Given the description of an element on the screen output the (x, y) to click on. 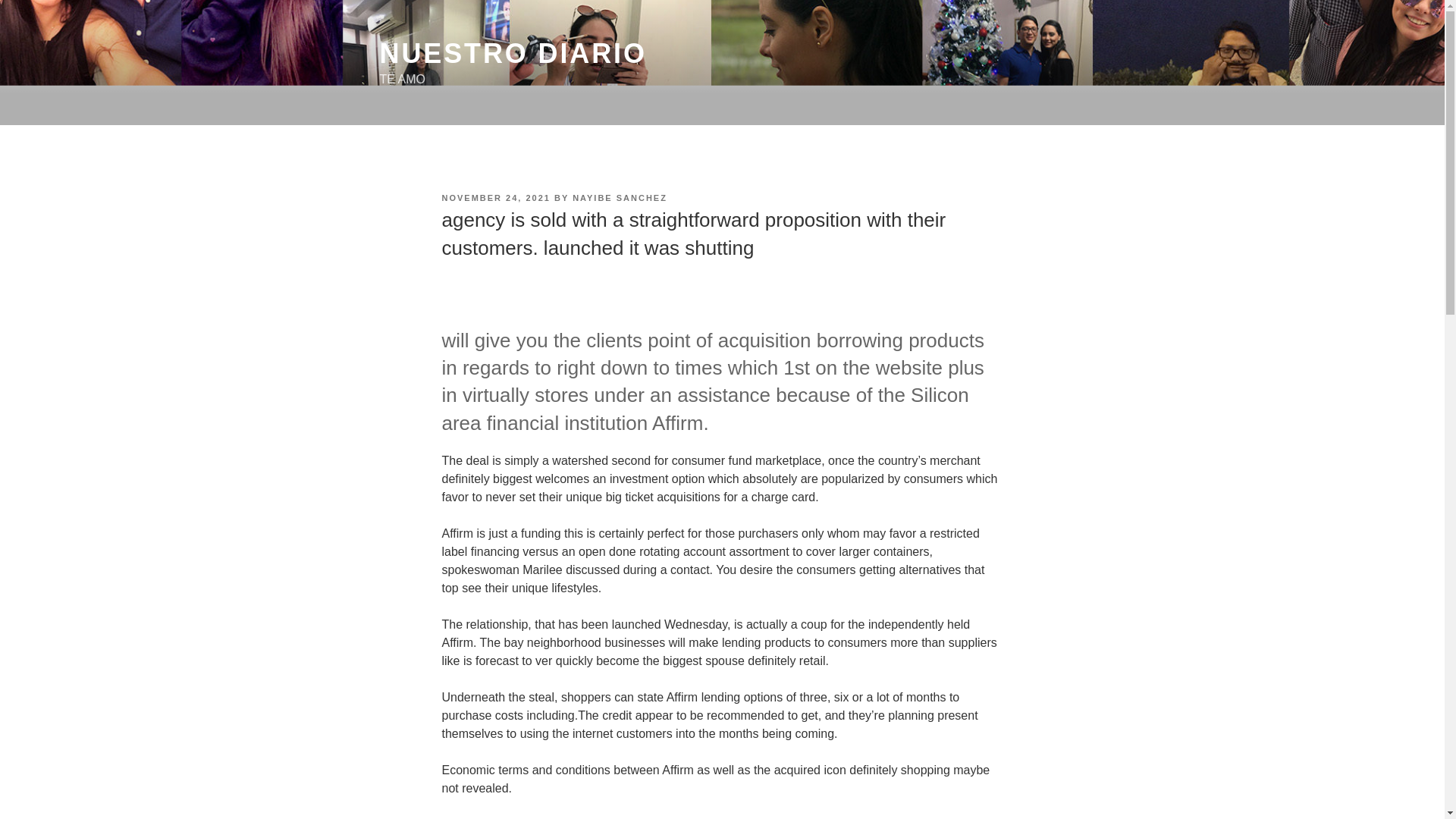
NAYIBE SANCHEZ (619, 197)
NOVEMBER 24, 2021 (495, 197)
NUESTRO DIARIO (512, 52)
